Given the description of an element on the screen output the (x, y) to click on. 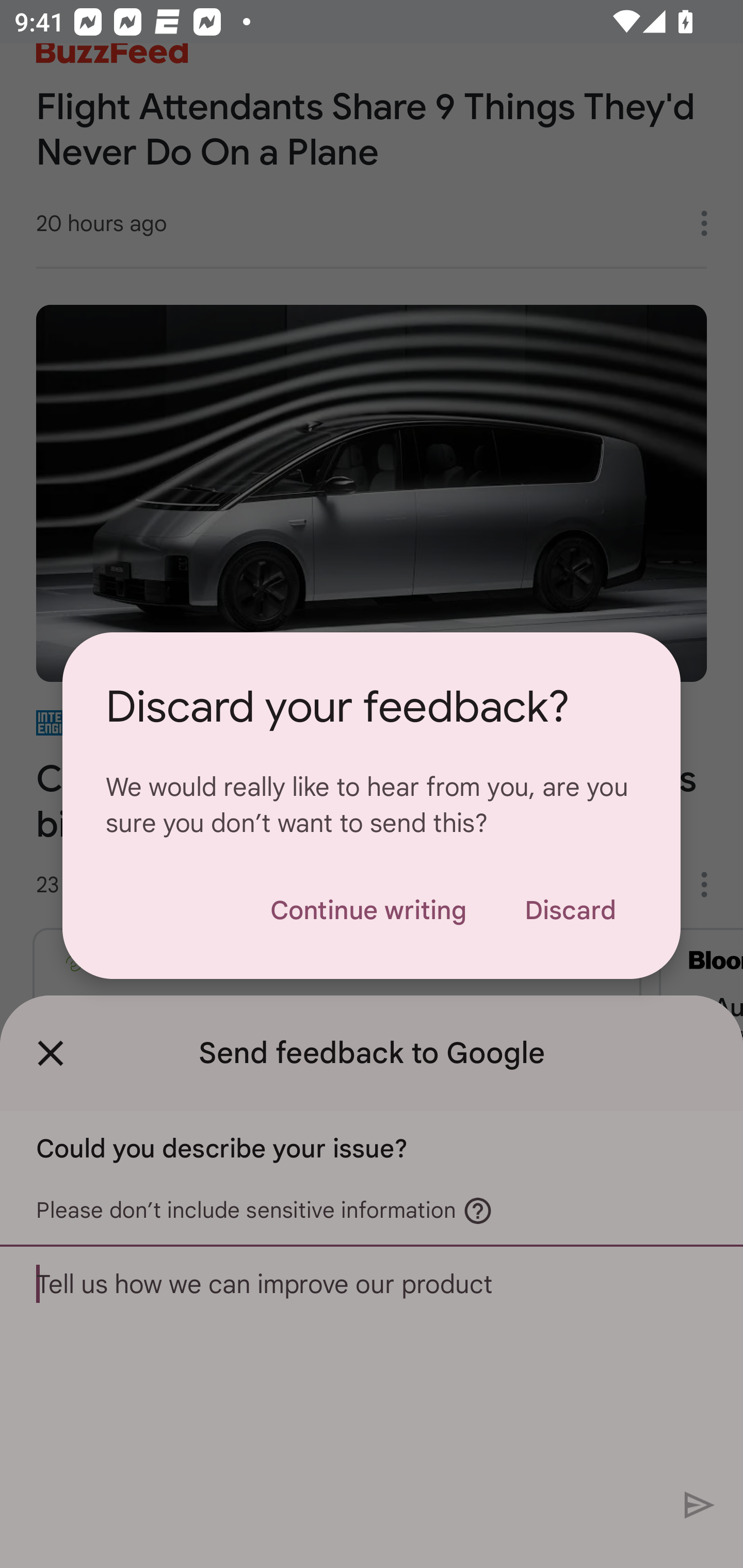
Continue writing (368, 910)
Discard (569, 910)
